Given the description of an element on the screen output the (x, y) to click on. 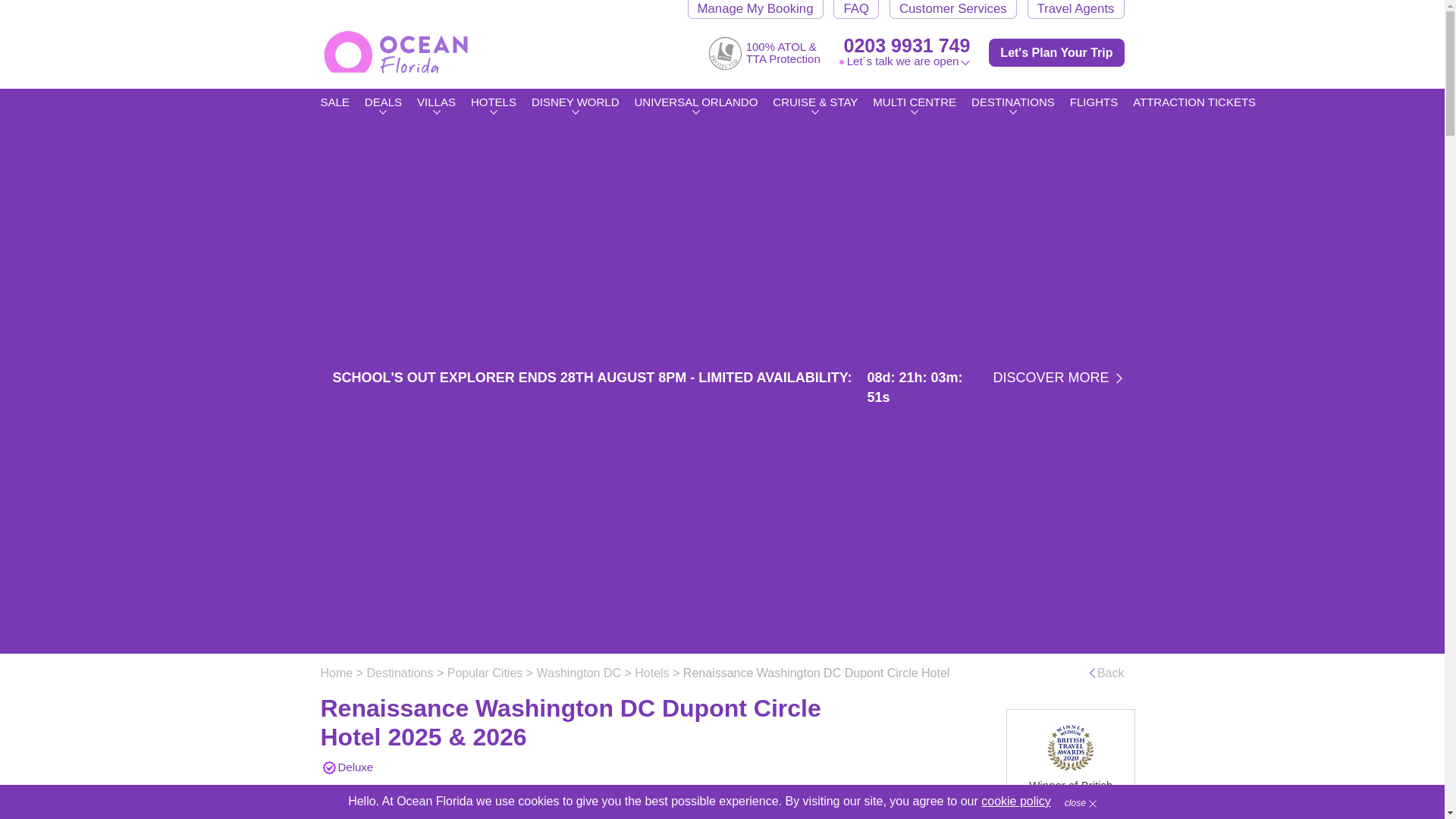
Home (336, 672)
Popular Cities (484, 672)
Destinations (399, 672)
Hotels (651, 672)
Washington DC (579, 672)
